Given the description of an element on the screen output the (x, y) to click on. 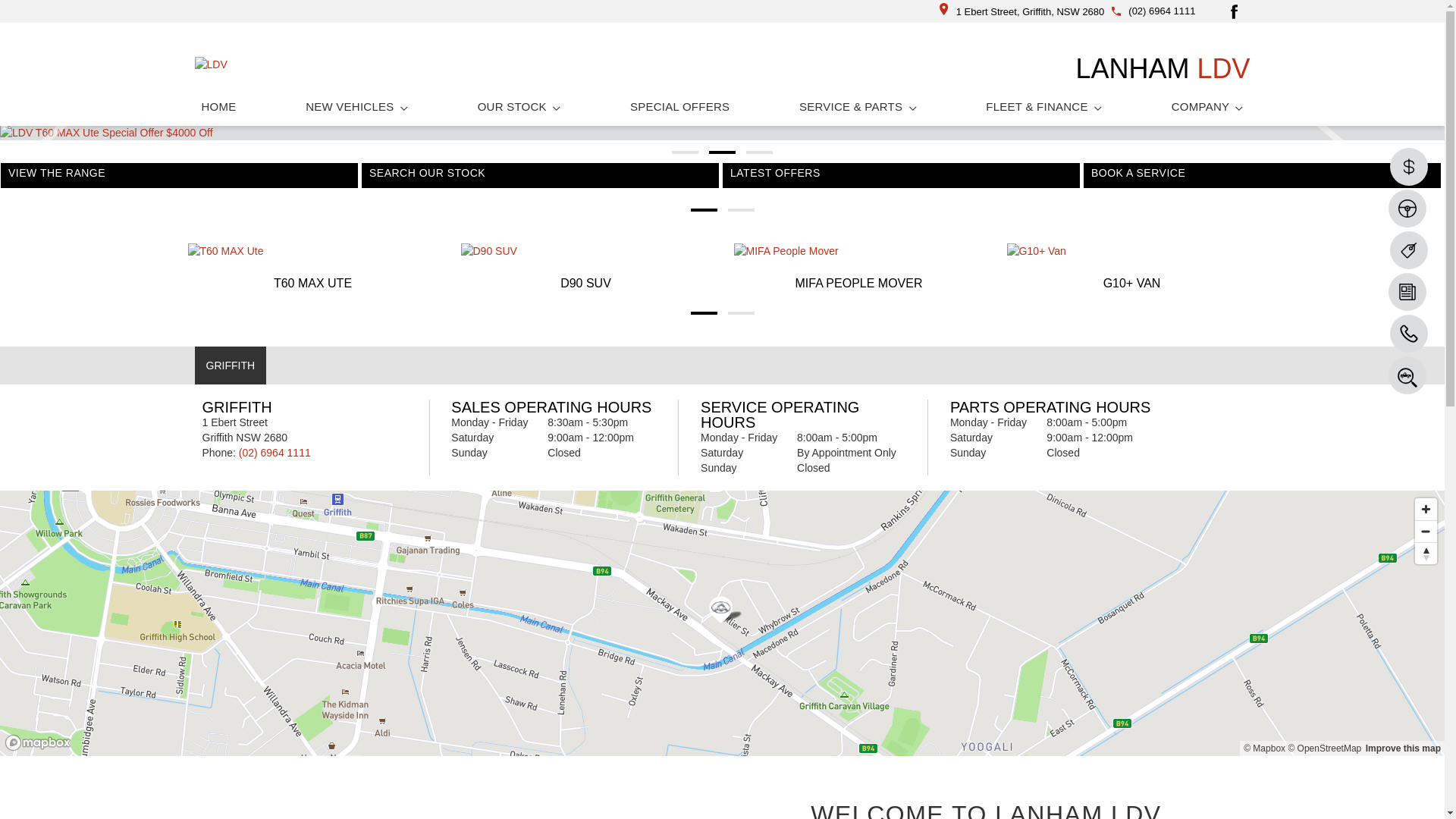
Reset bearing to north Element type: hover (1426, 553)
SEARCH OUR STOCK Element type: text (539, 180)
T60 MAX UTE Element type: text (313, 268)
(02) 6964 1111 Element type: text (274, 452)
1 Ebert Street, Griffith, NSW 2680 Element type: text (1021, 11)
COMPANY Element type: text (1207, 106)
OUR STOCK Element type: text (518, 106)
Improve this map Element type: text (1402, 748)
(02) 6964 1111 Element type: text (1161, 10)
SPECIAL OFFERS Element type: text (679, 106)
BOOK A SERVICE Element type: text (1261, 180)
Zoom in Element type: hover (1426, 509)
Zoom out Element type: hover (1426, 531)
NEW VEHICLES Element type: text (356, 106)
MIFA PEOPLE MOVER Element type: text (859, 268)
GRIFFITH Element type: text (230, 365)
D90 SUV Element type: text (586, 268)
FLEET & FINANCE Element type: text (1043, 106)
SERVICE & PARTS Element type: text (857, 106)
VIEW THE RANGE Element type: text (178, 180)
LATEST OFFERS Element type: text (900, 180)
G10+ VAN Element type: text (1132, 268)
HOME Element type: text (218, 106)
